Given the description of an element on the screen output the (x, y) to click on. 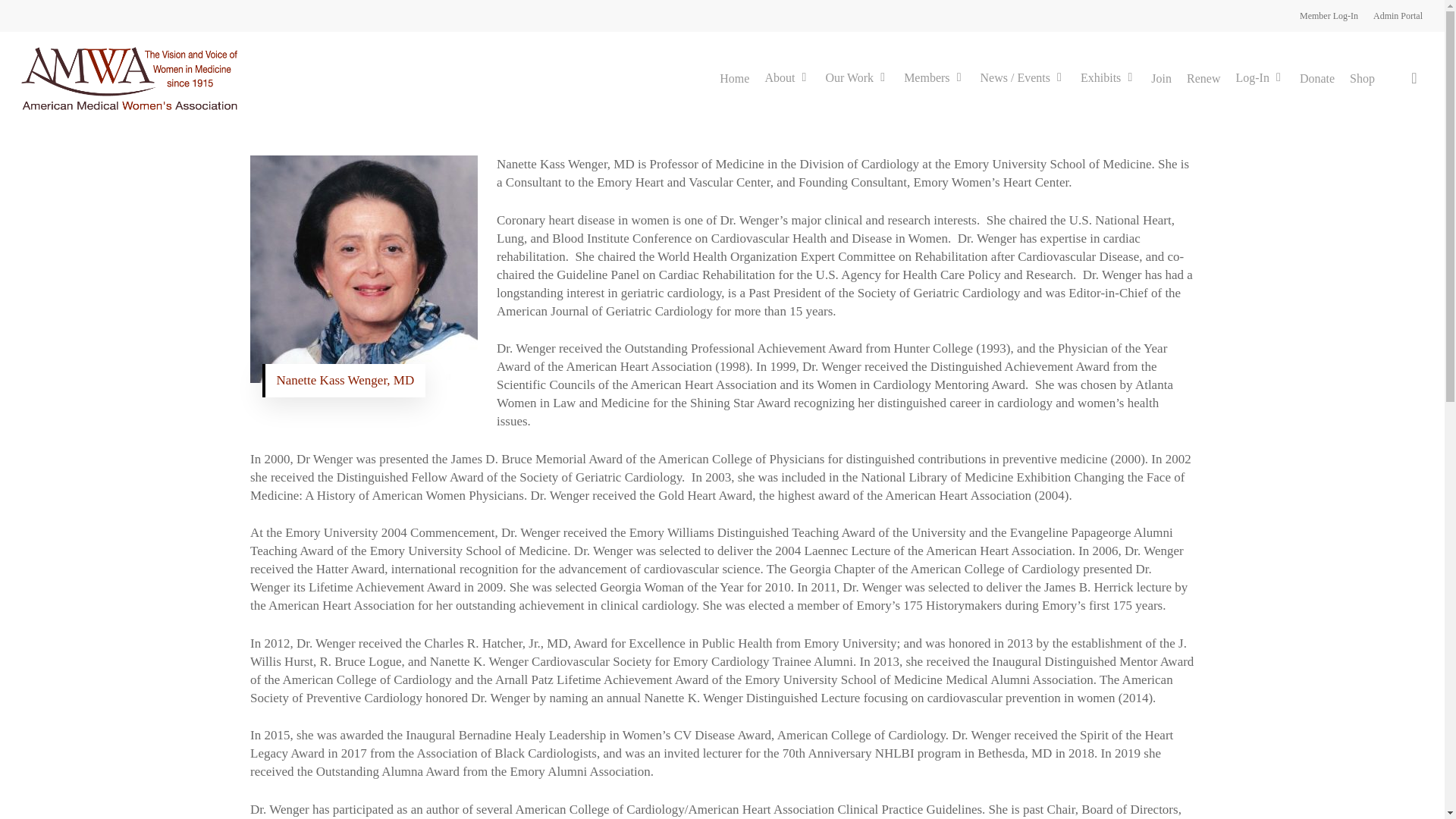
About (786, 78)
Member Log-In (1329, 15)
Our Work (856, 78)
Home (734, 78)
Admin Portal (1397, 15)
